Given the description of an element on the screen output the (x, y) to click on. 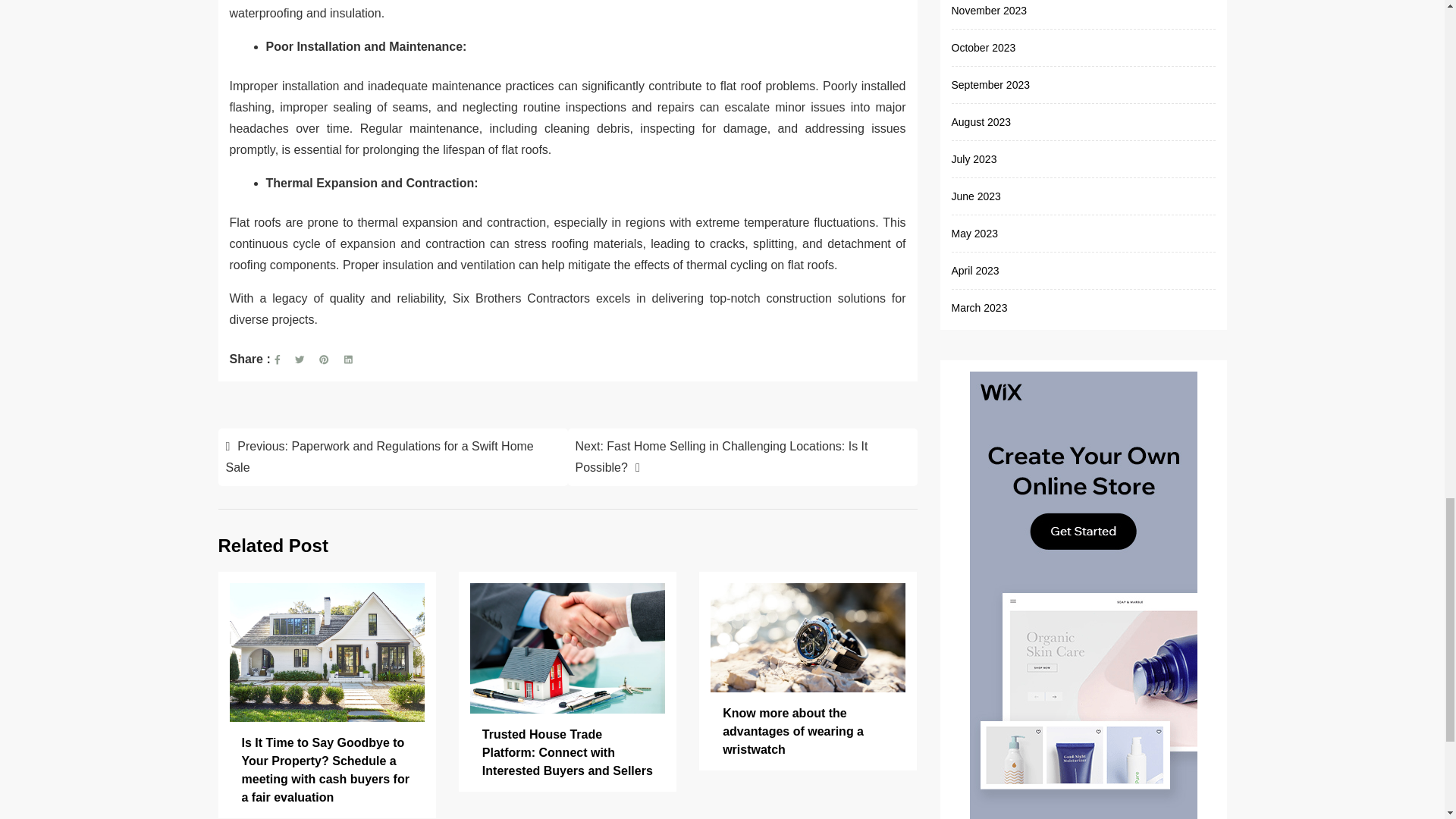
Know more about the advantages of wearing a wristwatch (807, 732)
Previous: Paperwork and Regulations for a Swift Home Sale (392, 457)
